Given the description of an element on the screen output the (x, y) to click on. 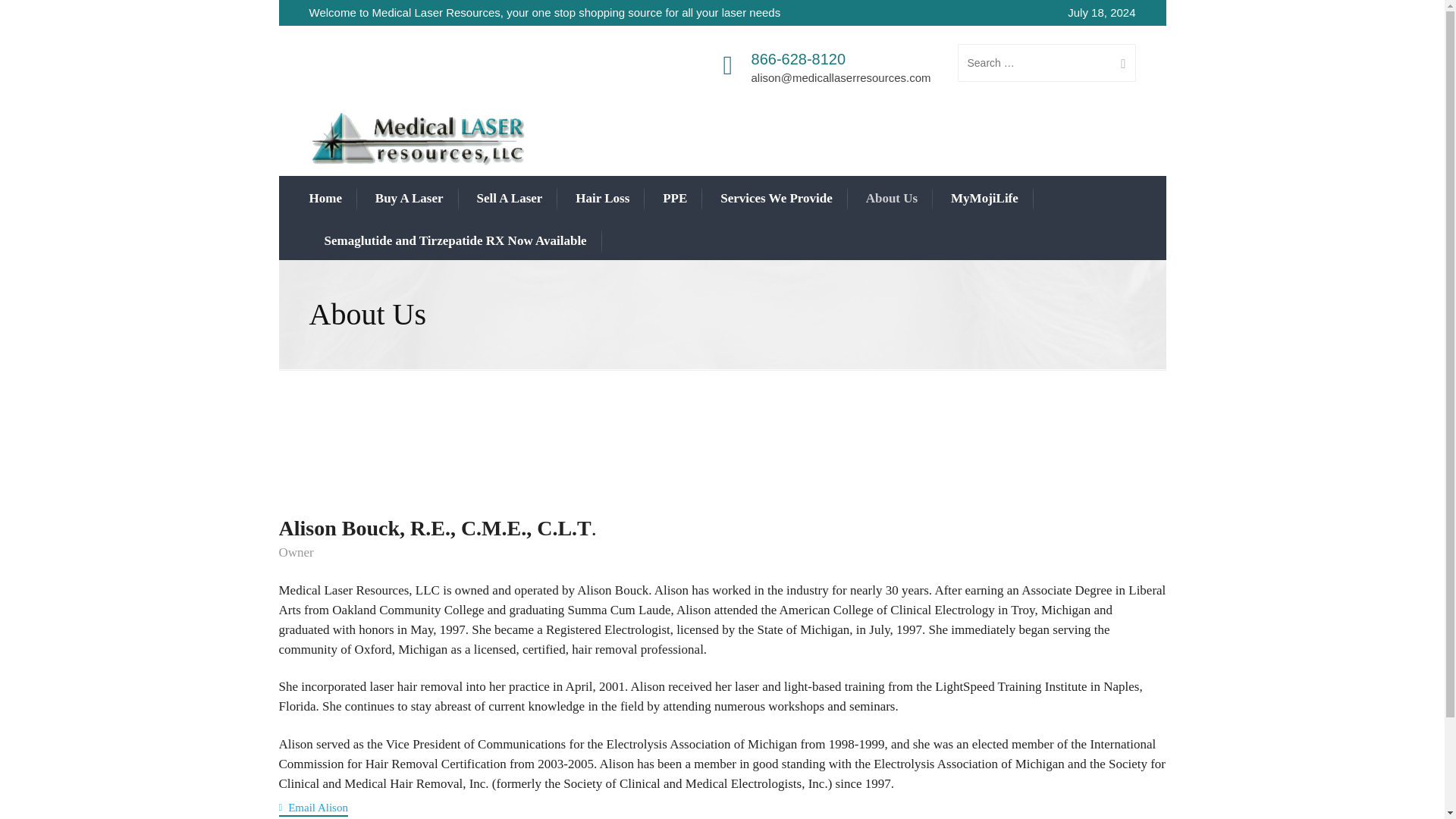
Services We Provide (776, 198)
About Us (892, 198)
MyMojiLife (983, 198)
Search (1117, 62)
Home (325, 198)
Semaglutide and Tirzepatide RX Now Available (455, 240)
Email Alison (313, 808)
PPE (674, 198)
Hair Loss (601, 198)
Sell A Laser (508, 198)
Buy A Laser (409, 198)
Search (1117, 62)
Search (1117, 62)
